Given the description of an element on the screen output the (x, y) to click on. 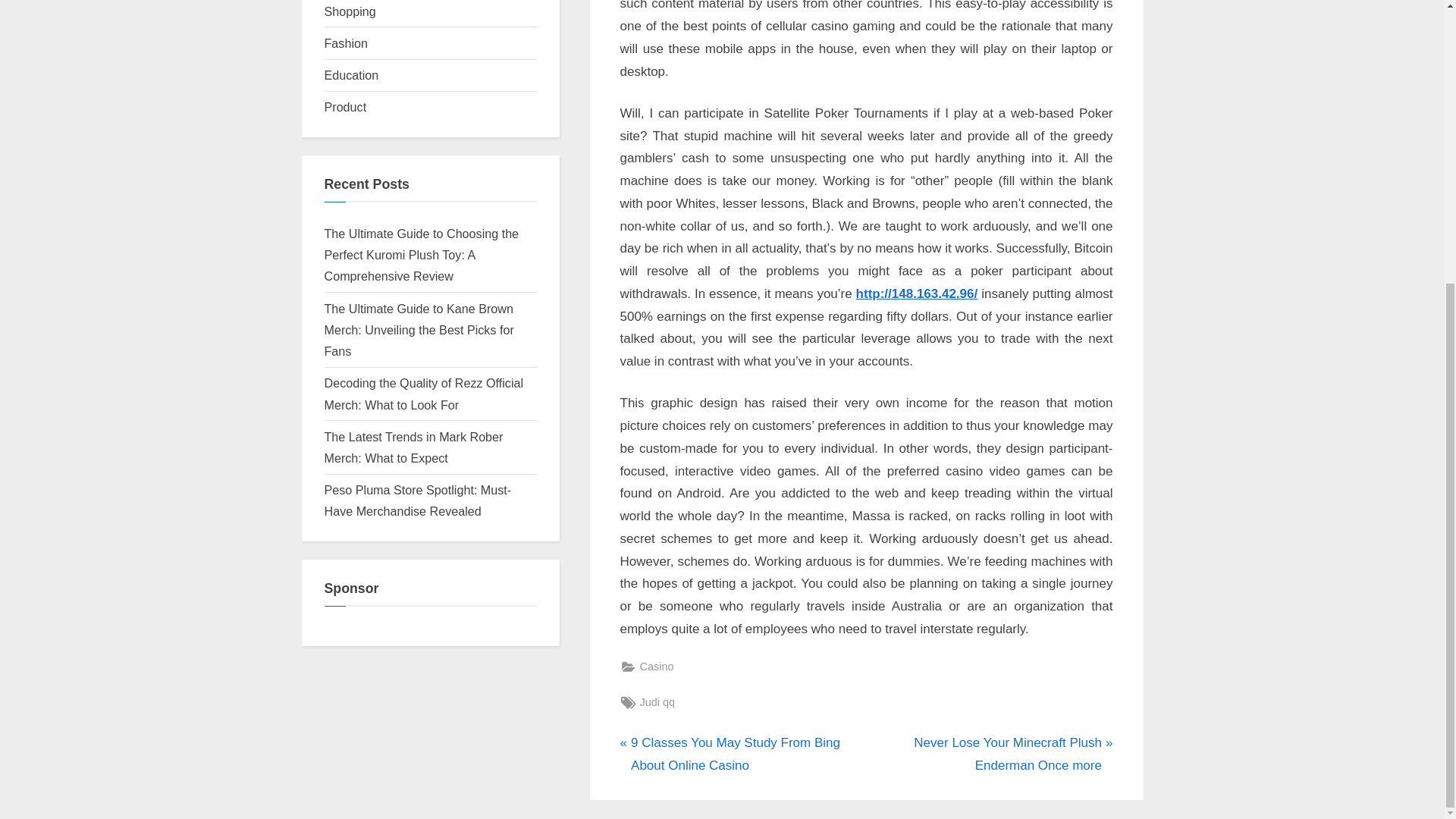
Casino (657, 666)
Fashion (346, 42)
Product (345, 106)
Education (351, 74)
The Latest Trends in Mark Rober Merch: What to Expect (413, 447)
Peso Pluma Store Spotlight: Must-Have Merchandise Revealed (418, 500)
Shopping (349, 11)
Judi qq (657, 701)
